Given the description of an element on the screen output the (x, y) to click on. 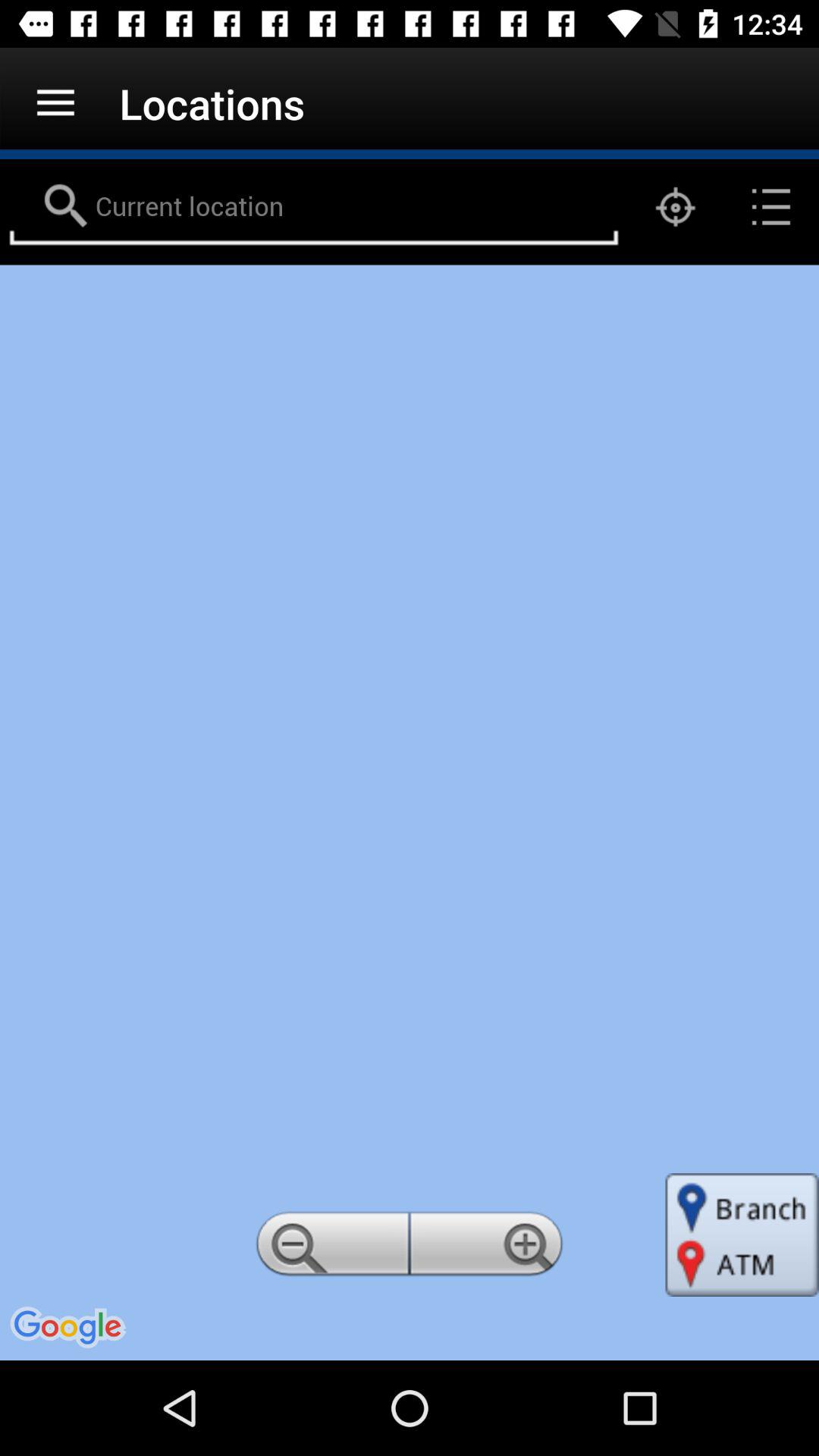
go to zooming (488, 1248)
